Given the description of an element on the screen output the (x, y) to click on. 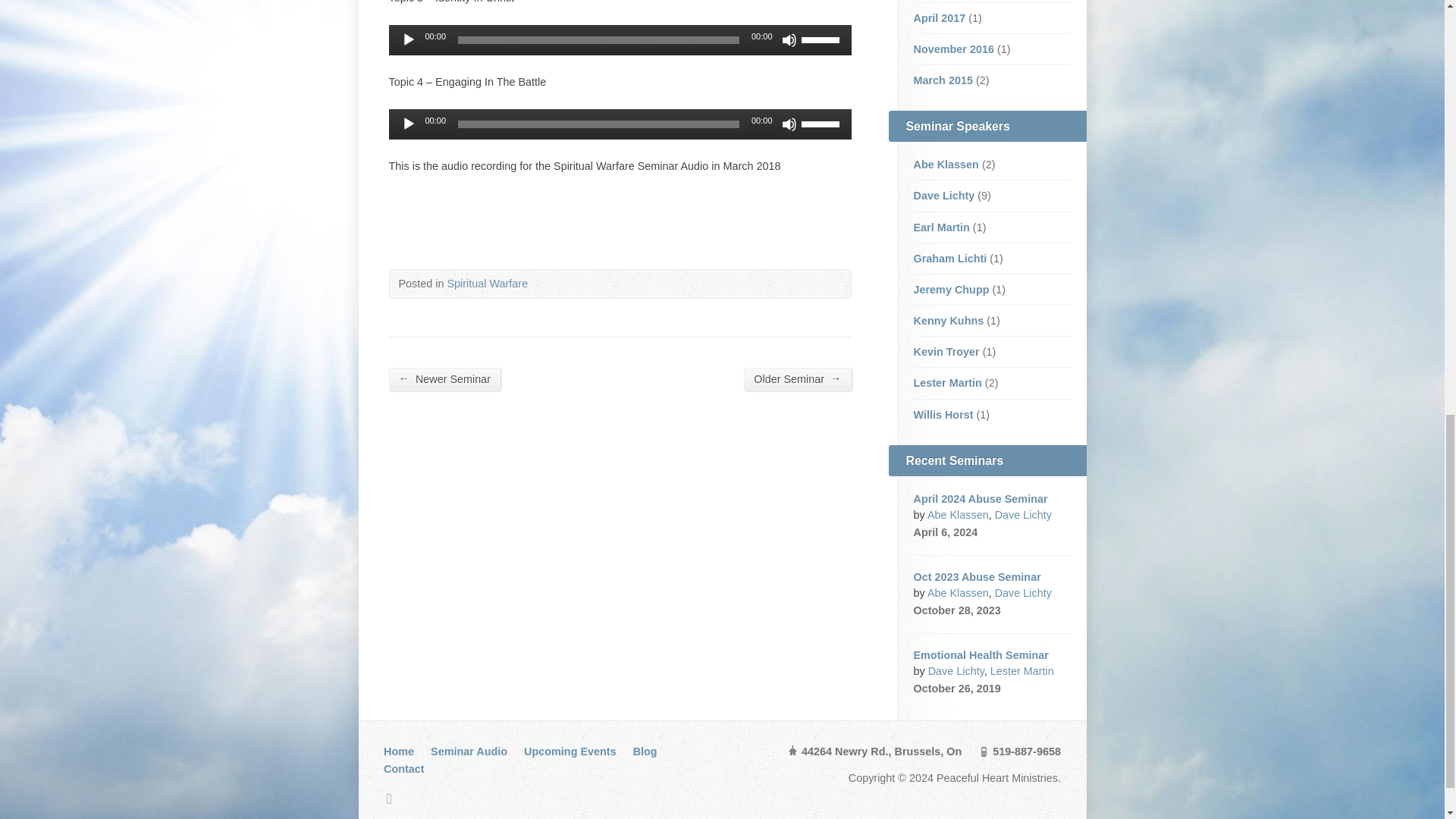
Play (407, 39)
April 2024 Abuse Seminar (979, 499)
Mute (788, 39)
Mute (788, 124)
Play (407, 124)
Oct 2023 Abuse Seminar (976, 576)
Emotional Health Seminar (980, 654)
